Given the description of an element on the screen output the (x, y) to click on. 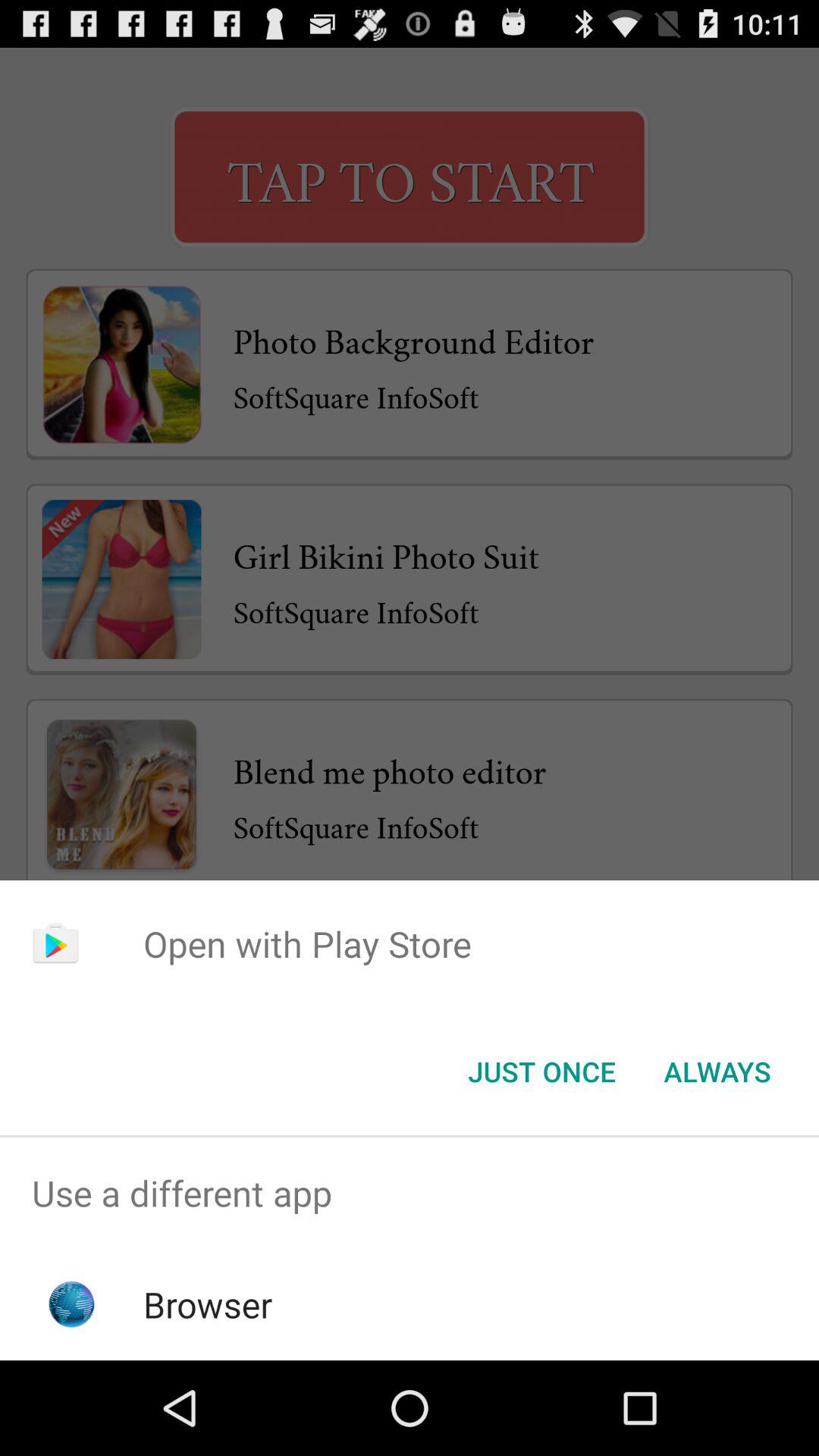
press icon to the right of the just once item (717, 1071)
